Given the description of an element on the screen output the (x, y) to click on. 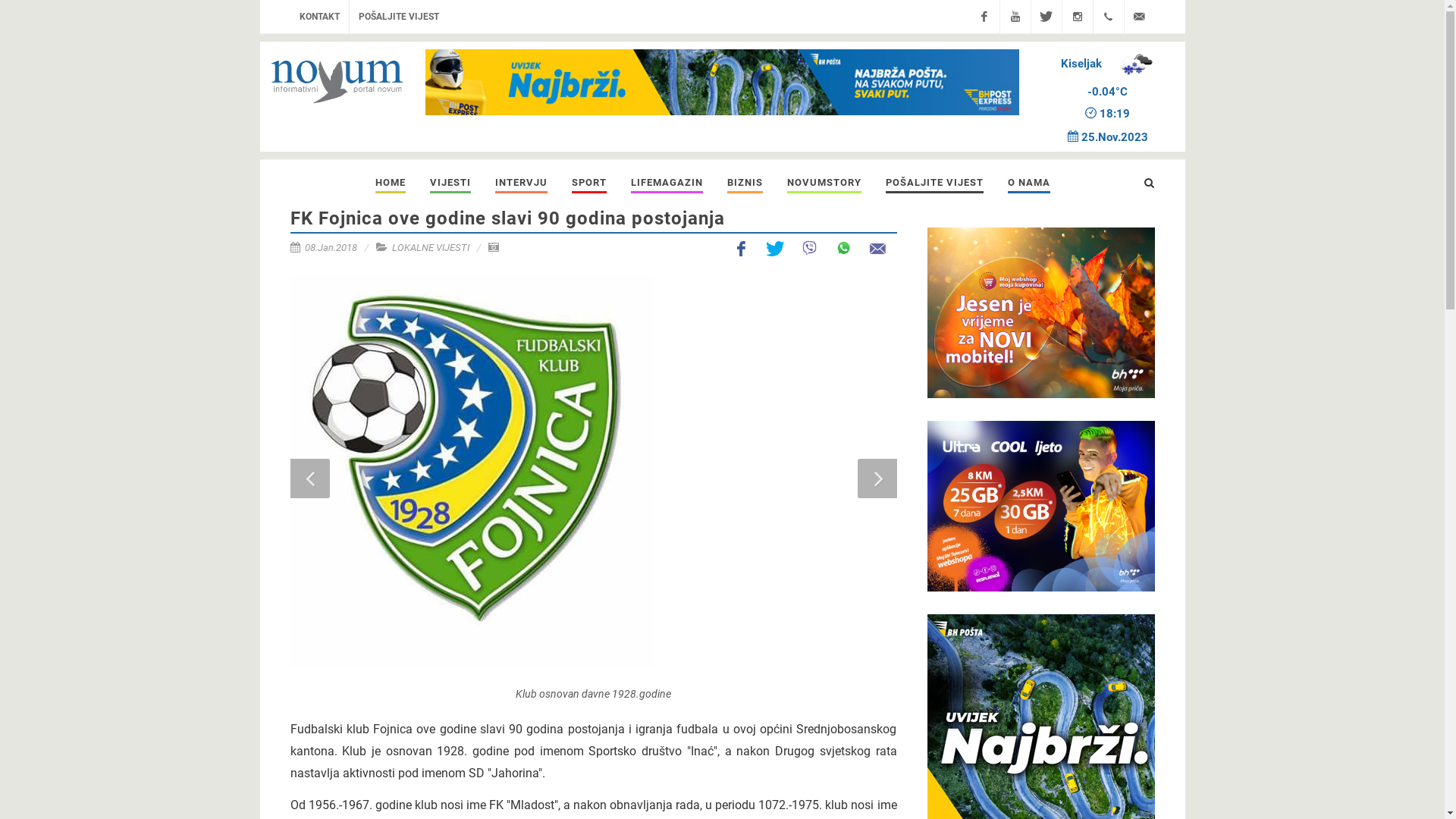
NOVUMSTORY Element type: text (823, 181)
LIFEMAGAZIN Element type: text (665, 181)
O NAMA Element type: text (1028, 181)
Facebook Element type: hover (741, 248)
Viber share Element type: hover (809, 248)
KONTAKT Element type: text (318, 16)
Whatsapp Element type: hover (843, 248)
VIJESTI Element type: text (450, 181)
Twitter Element type: hover (774, 248)
Email Element type: hover (877, 248)
BIZNIS Element type: text (744, 181)
HOME Element type: text (390, 181)
LOKALNE VIJESTI Element type: text (429, 246)
SPORT Element type: text (588, 181)
INTERVJU Element type: text (520, 181)
